Given the description of an element on the screen output the (x, y) to click on. 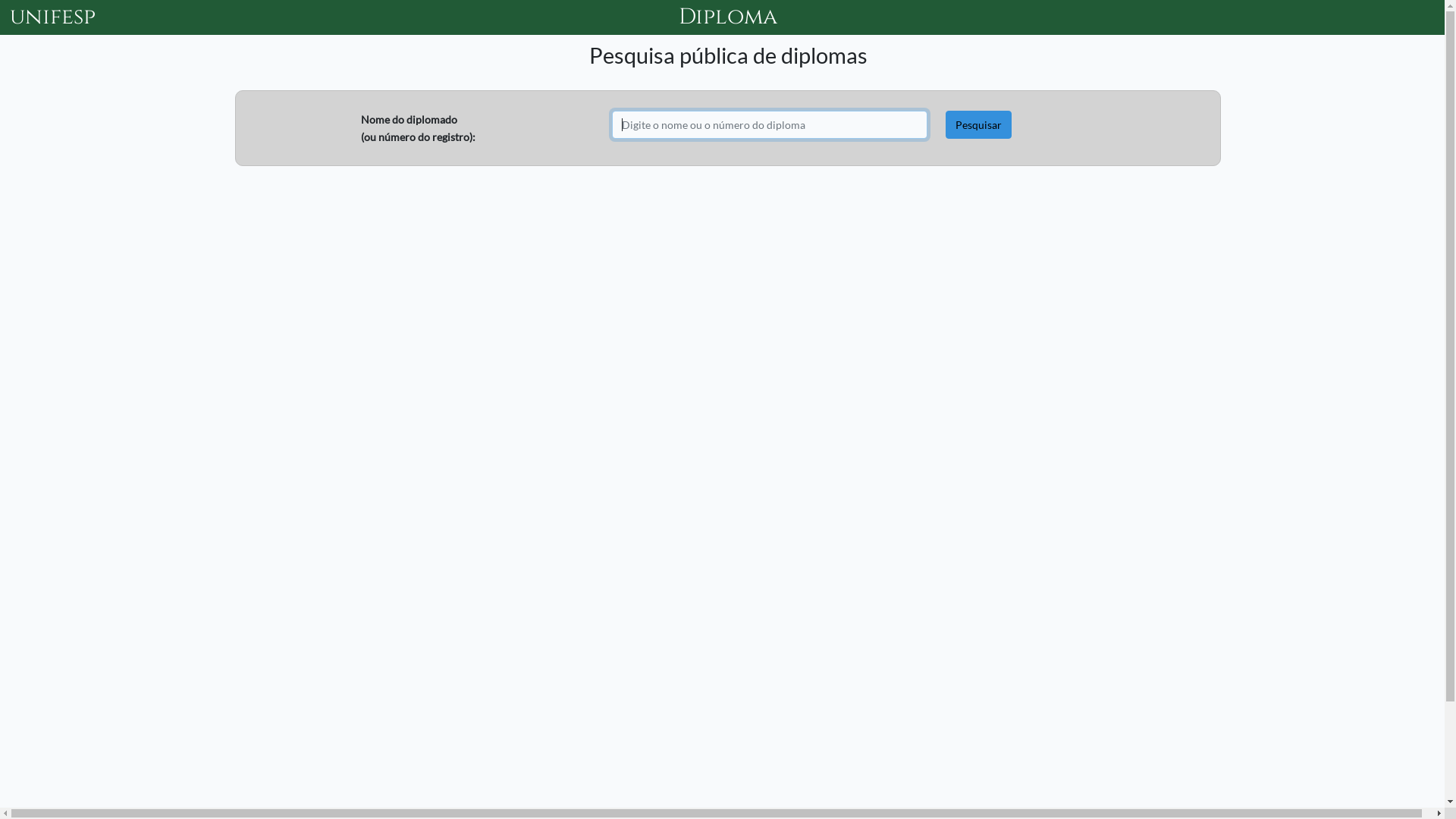
Pesquisar Element type: text (978, 124)
